Given the description of an element on the screen output the (x, y) to click on. 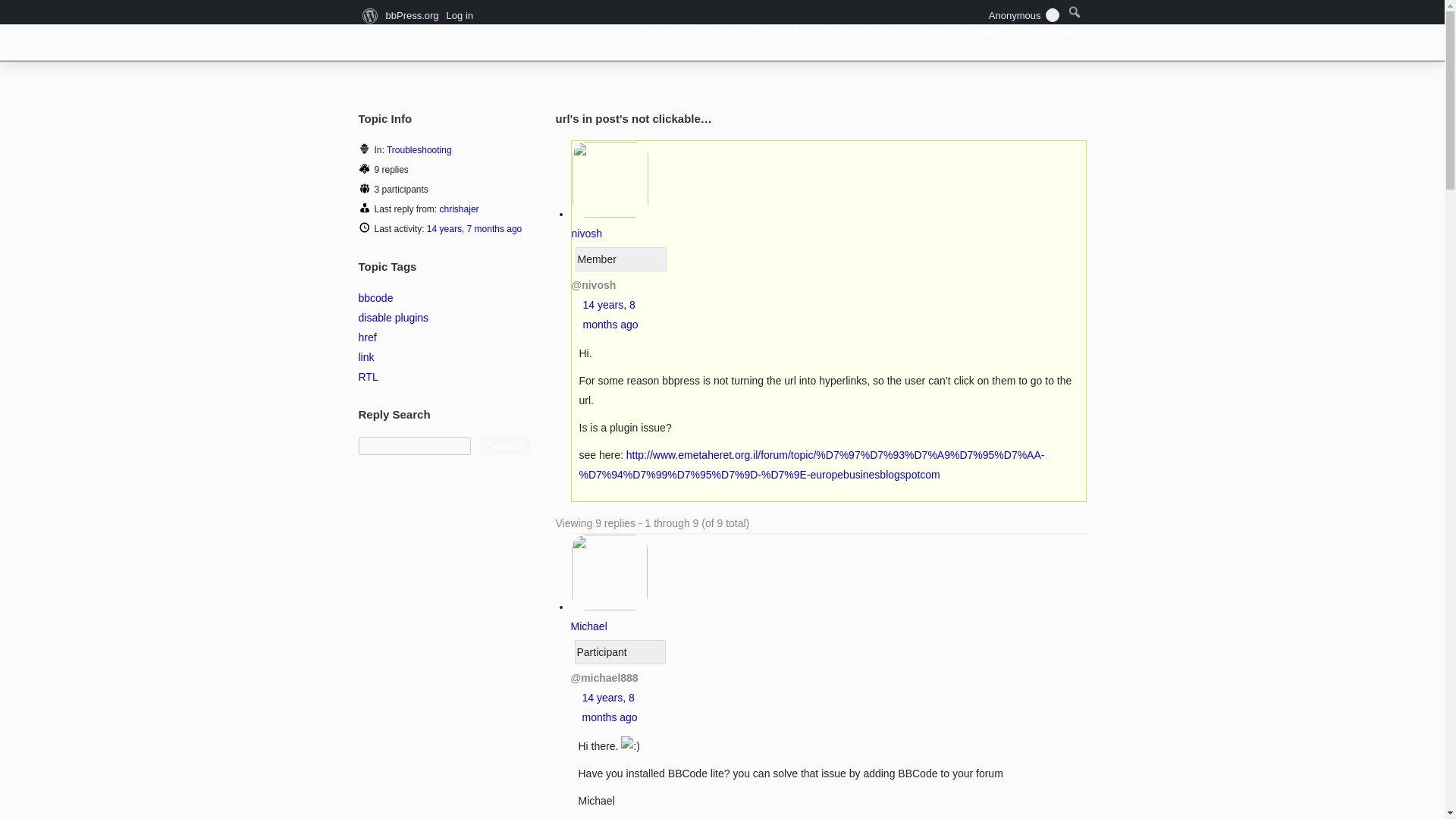
Documentation (857, 29)
14 years, 8 months ago (609, 314)
Blog (930, 29)
Themes (777, 29)
nivosh (610, 223)
About (662, 29)
Michael (608, 616)
Support (983, 29)
Download (1050, 29)
14 years, 8 months ago (609, 707)
